Given the description of an element on the screen output the (x, y) to click on. 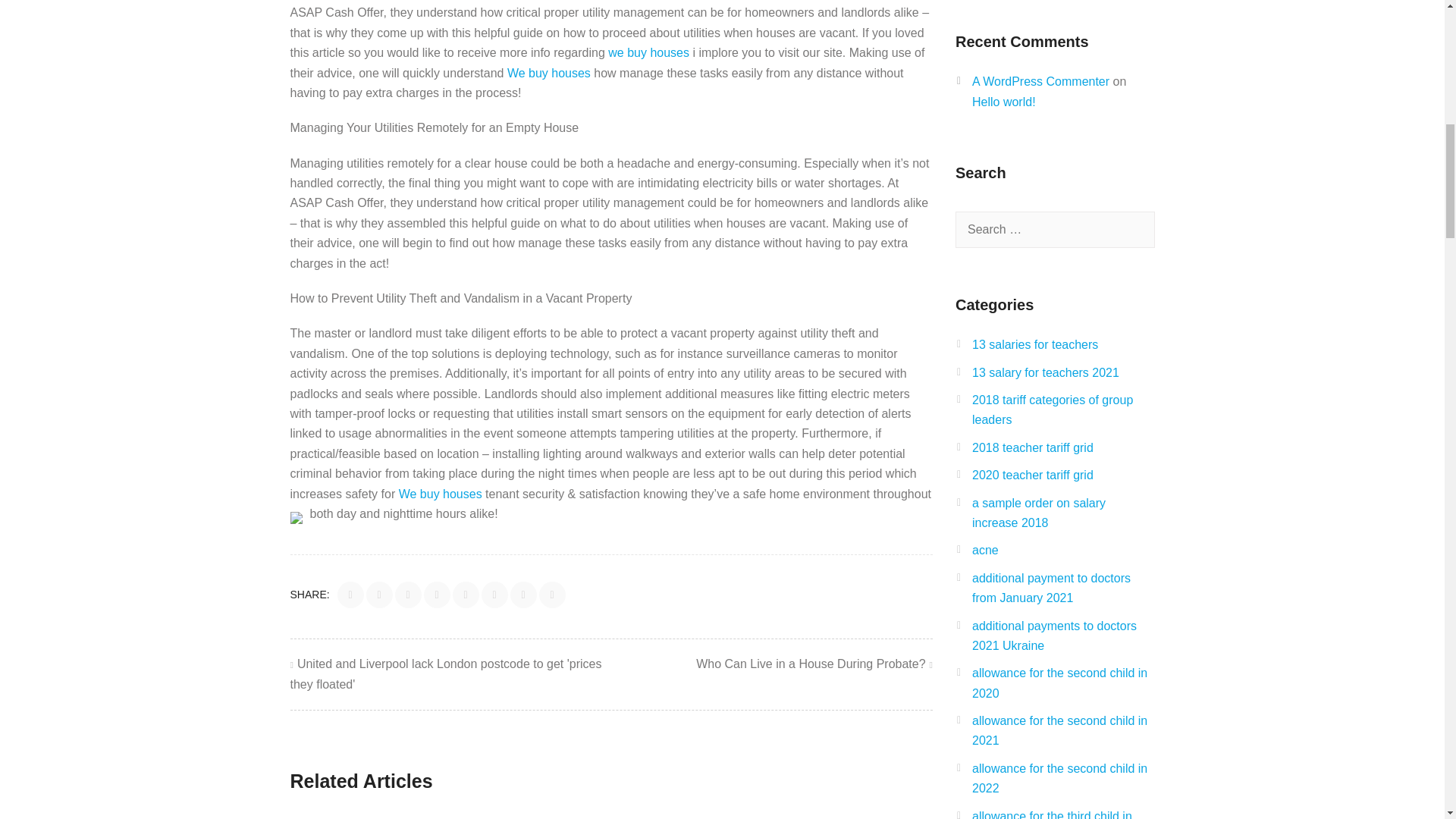
Share on Linkedin (437, 594)
Share on Facebook (349, 594)
Share on Tumblr (523, 594)
Mail to Friend (552, 594)
Share on Pinterest (465, 594)
Share on Stumbleupon (493, 594)
Share on Twitter (378, 594)
